Given the description of an element on the screen output the (x, y) to click on. 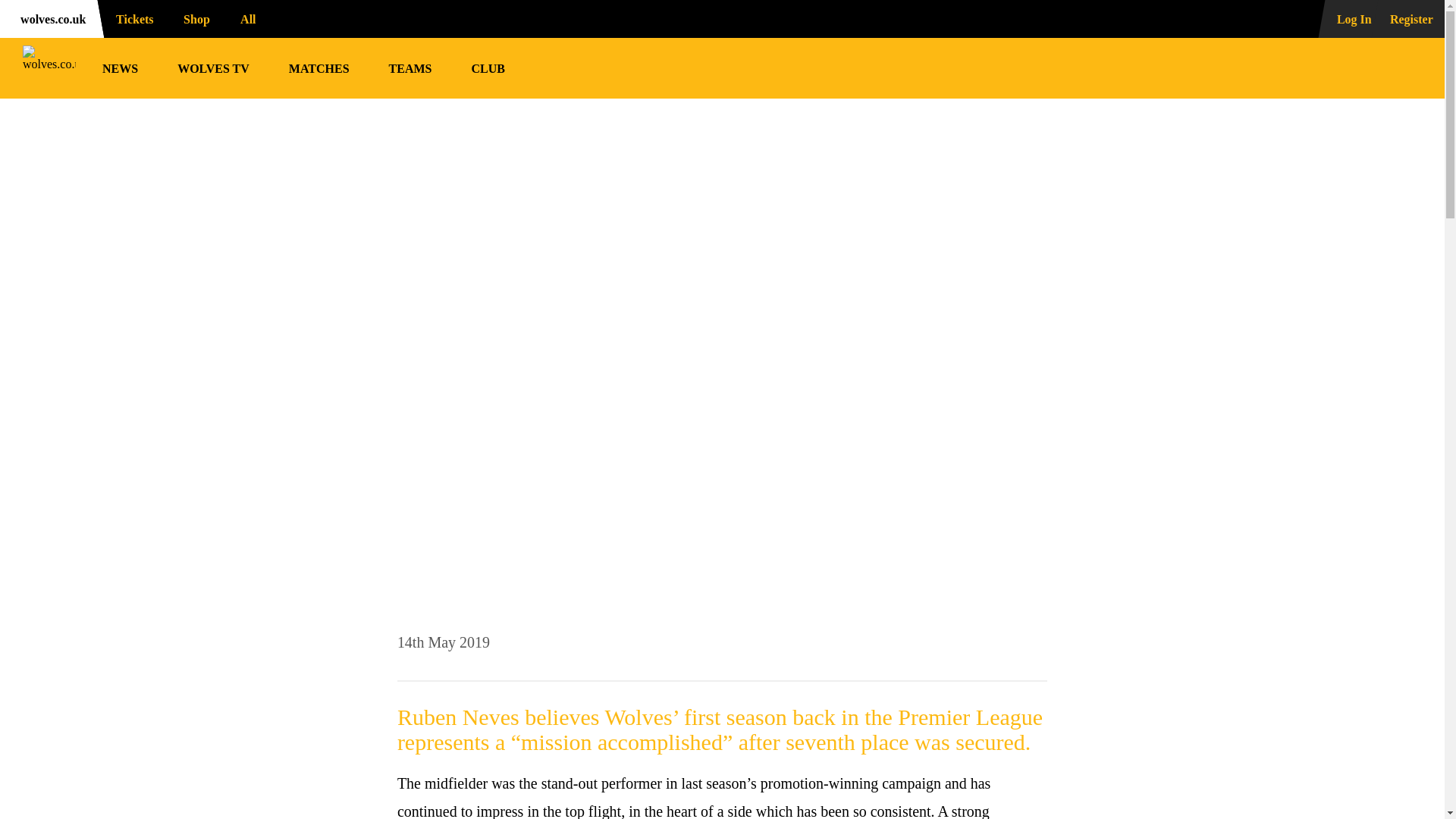
Skip to content (12, 12)
Log In (1346, 18)
wolves.co.uk (48, 18)
Tickets (130, 18)
All (254, 18)
Shop (193, 18)
